Given the description of an element on the screen output the (x, y) to click on. 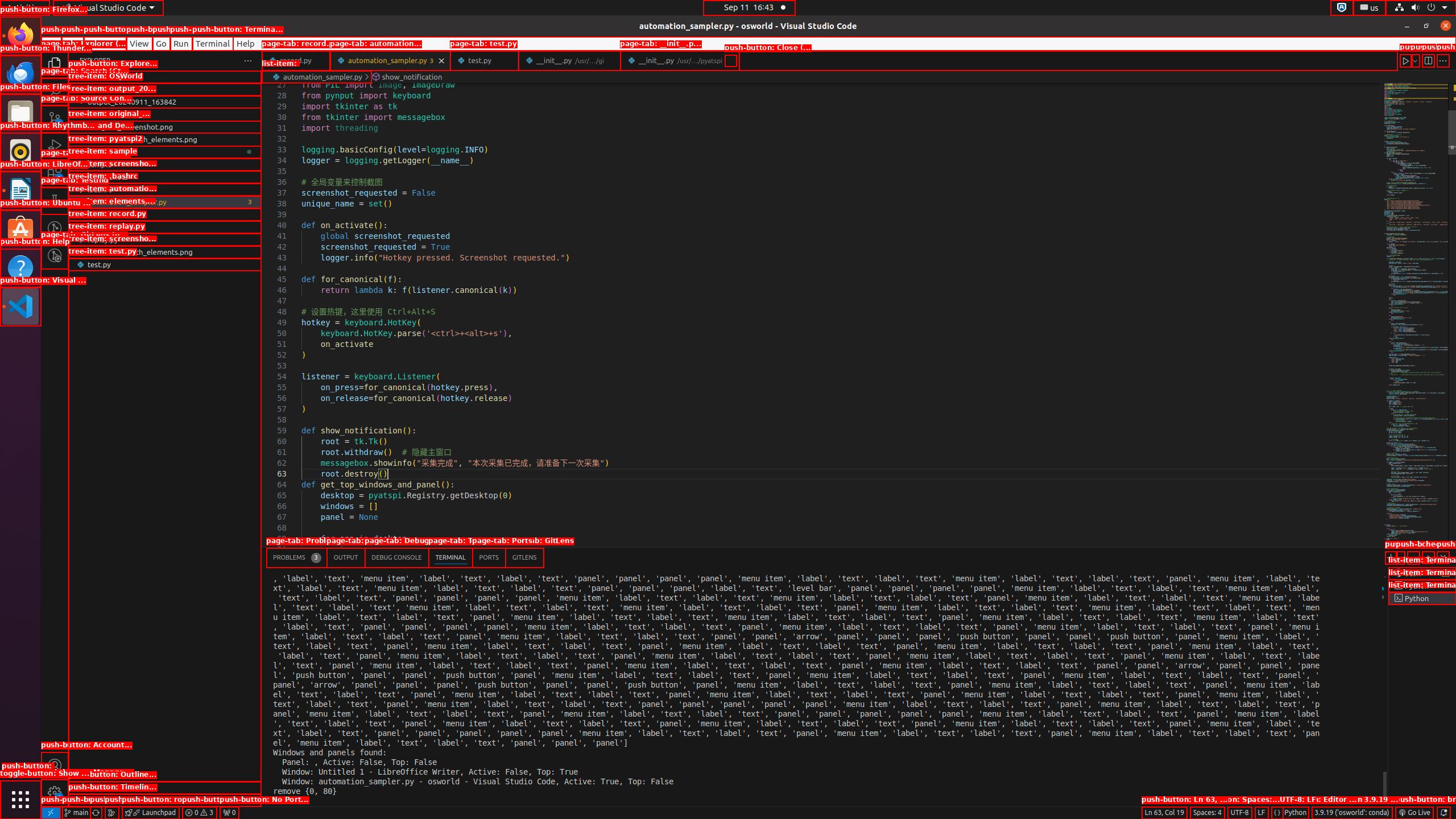
Run Element type: push-button (181, 43)
Timeline Section Element type: push-button (164, 799)
Hide Panel Element type: push-button (1442, 557)
Debug Console (Ctrl+Shift+Y) Element type: page-tab (396, 557)
View Element type: push-button (139, 43)
